Given the description of an element on the screen output the (x, y) to click on. 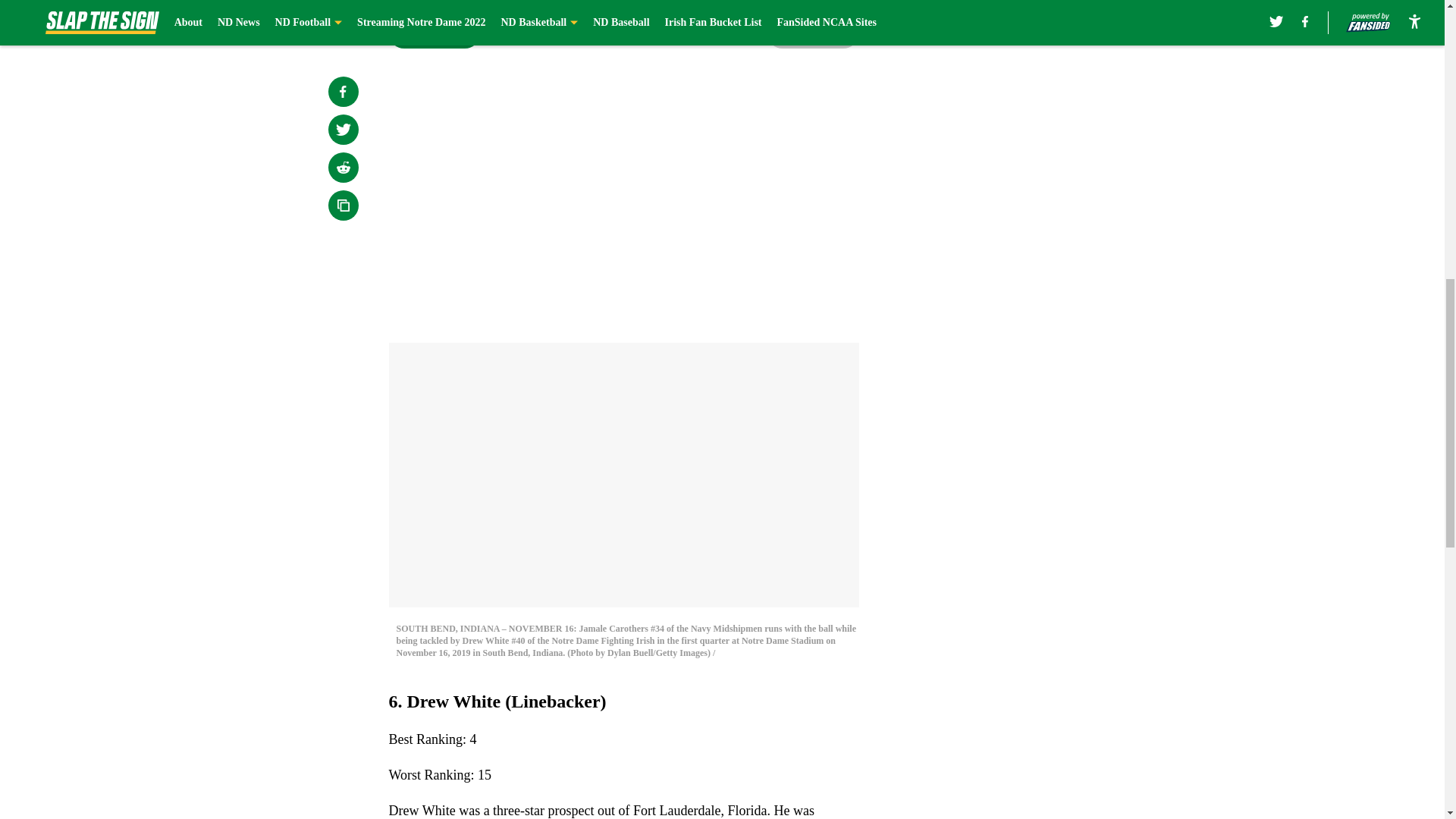
Prev (433, 33)
Next (813, 33)
